Given the description of an element on the screen output the (x, y) to click on. 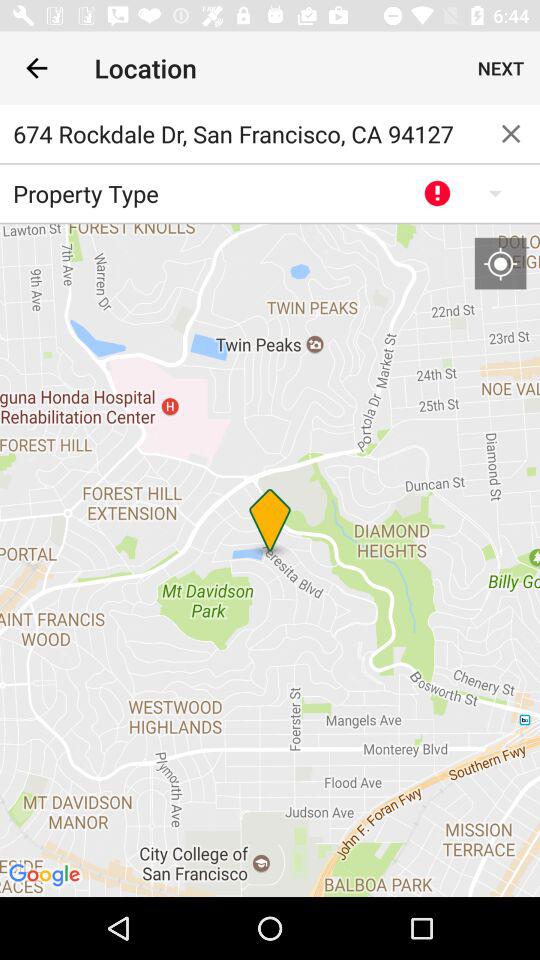
turn off the 674 rockdale dr item (241, 134)
